Given the description of an element on the screen output the (x, y) to click on. 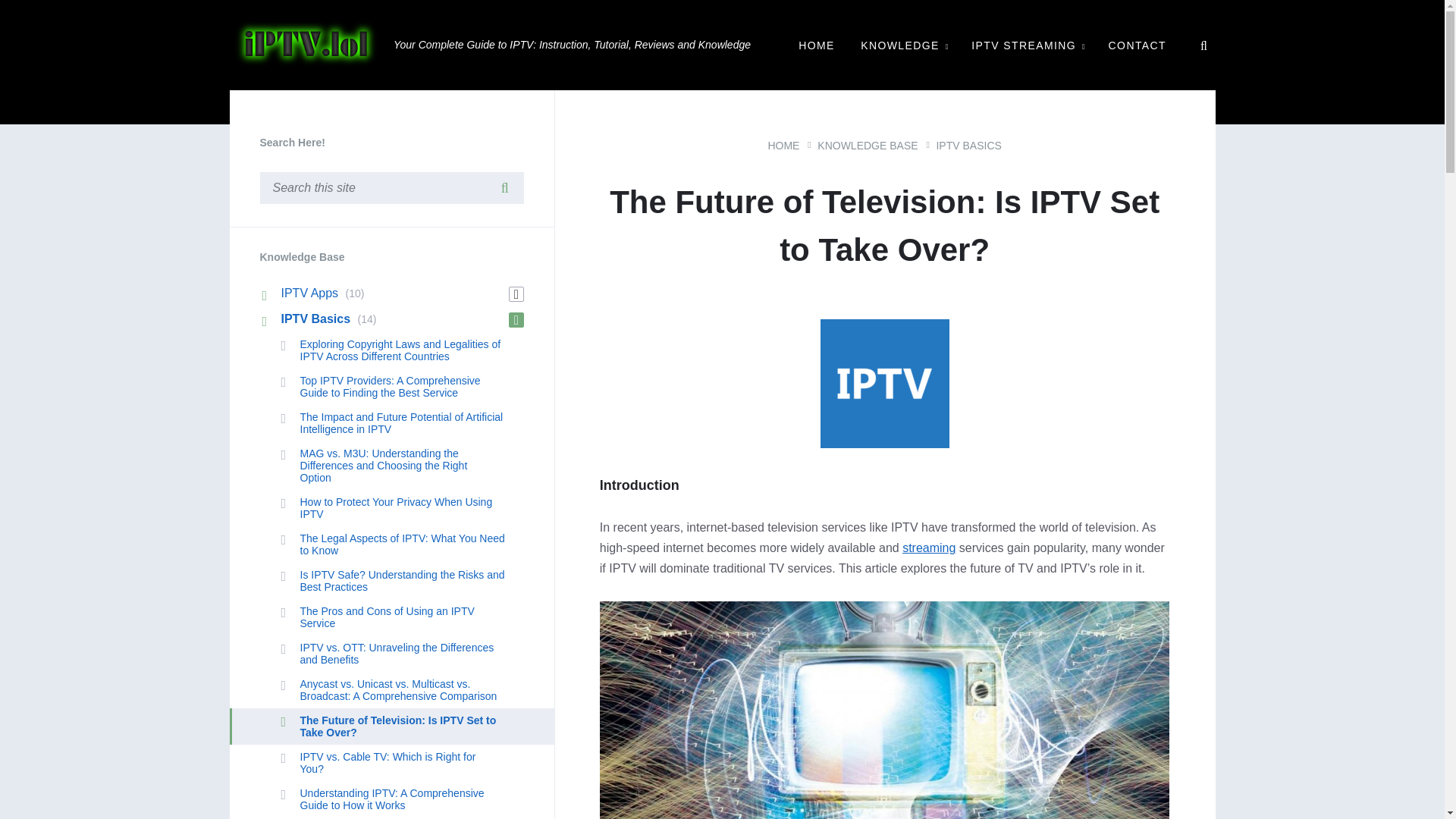
Expand search (1203, 45)
KNOWLEDGE (902, 45)
HOME (816, 45)
KNOWLEDGE BASE (866, 145)
IPTV BASICS (968, 145)
IPTV STREAMING (1026, 45)
CONTACT (1137, 45)
HOME (783, 145)
